Given the description of an element on the screen output the (x, y) to click on. 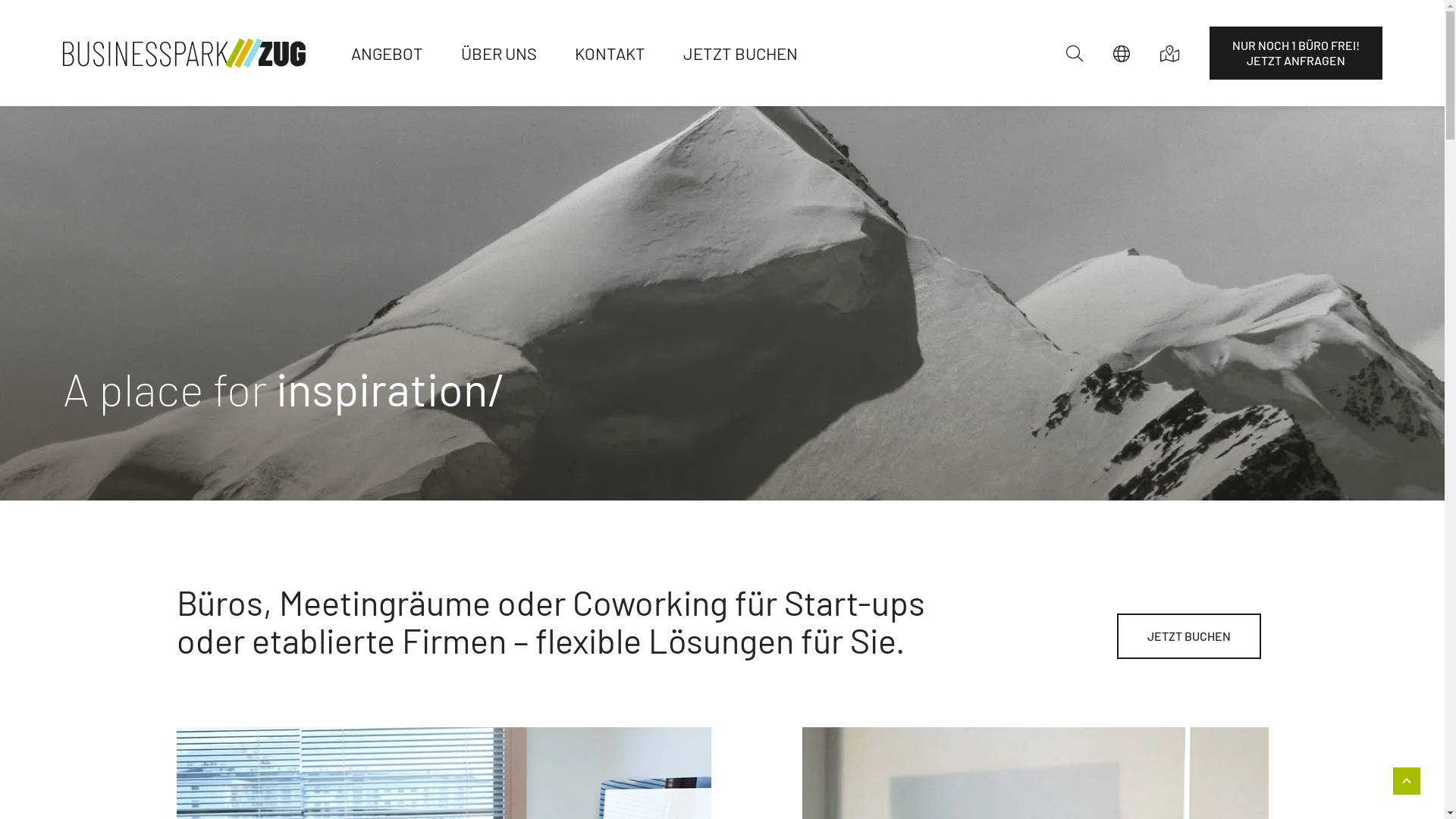
JETZT BUCHEN Element type: text (740, 52)
Anfahrt Element type: hover (1169, 52)
Suchen Element type: hover (1082, 52)
headerbild-berge-businessparkzug Element type: hover (722, 303)
KONTAKT Element type: text (609, 52)
ANGEBOT Element type: text (395, 52)
JETZT BUCHEN Element type: text (1188, 635)
Sprachauswahl Element type: hover (1121, 52)
